Given the description of an element on the screen output the (x, y) to click on. 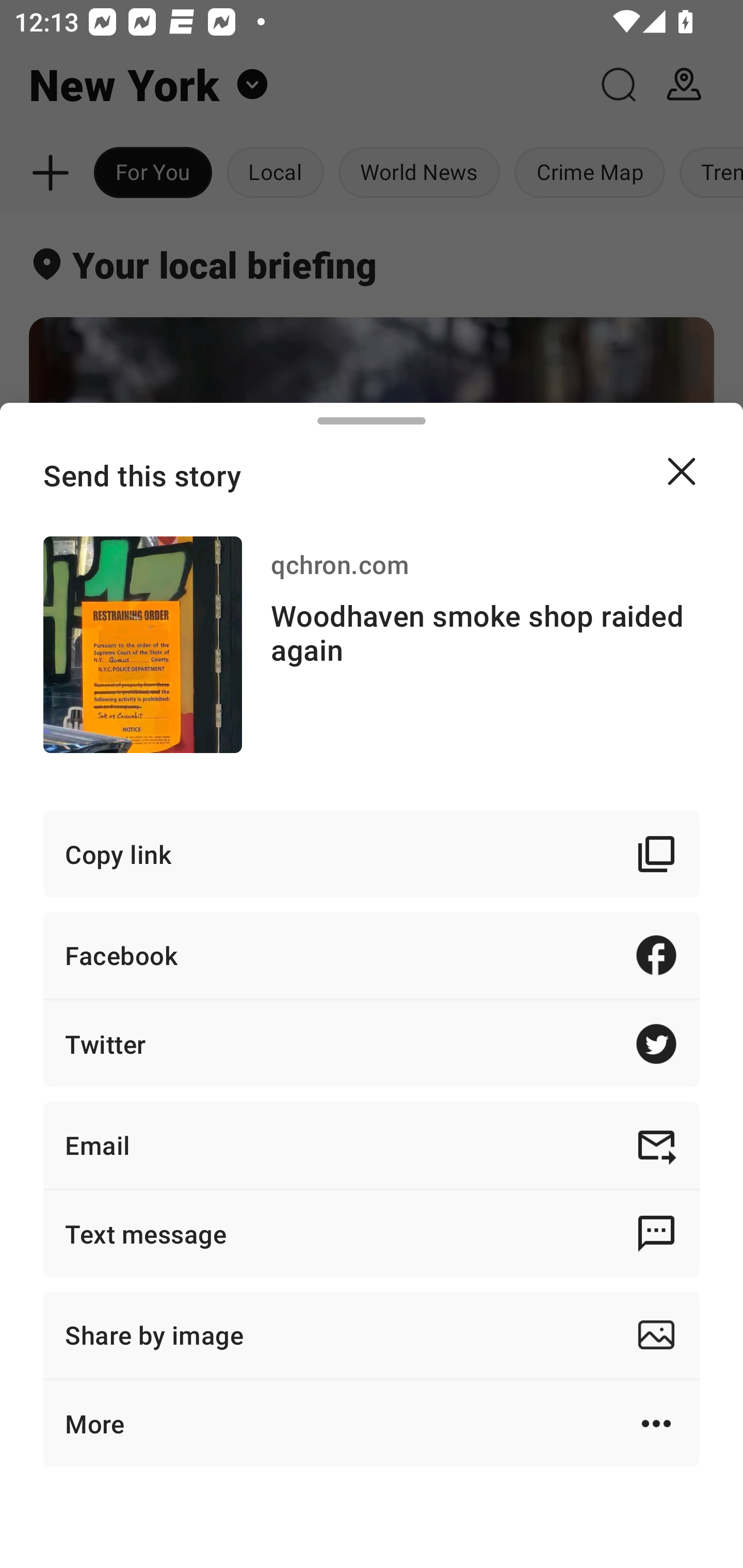
Copy link (371, 853)
Facebook (371, 955)
Twitter (371, 1043)
Email (371, 1145)
Text message (371, 1233)
Share by image (371, 1335)
More (371, 1423)
